Given the description of an element on the screen output the (x, y) to click on. 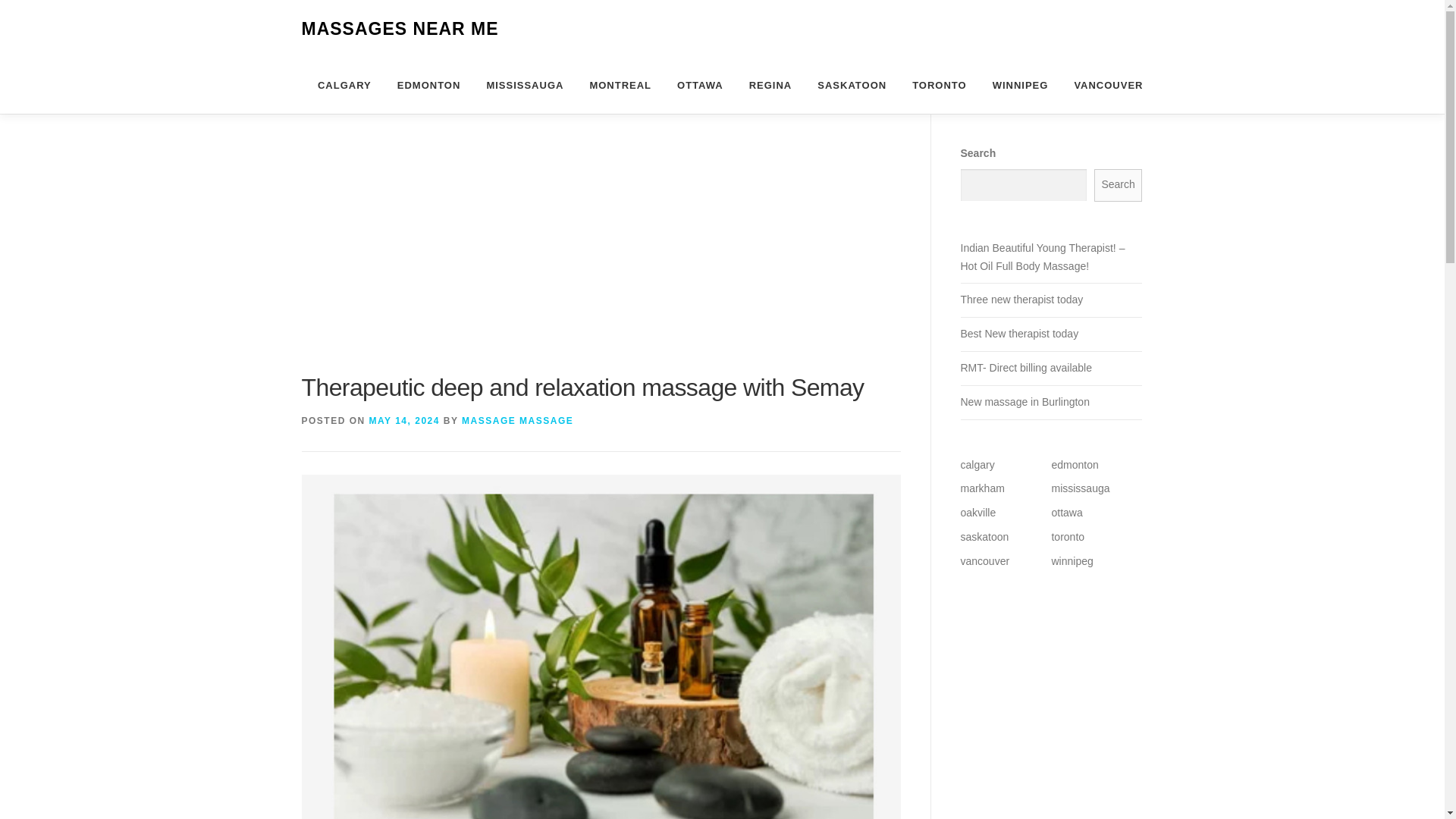
Advertisement (601, 256)
MAY 14, 2024 (404, 420)
CALGARY (344, 84)
EDMONTON (429, 84)
WINNIPEG (1020, 84)
MISSISSAUGA (524, 84)
MASSAGES NEAR ME (400, 29)
TORONTO (939, 84)
VANCOUVER (1101, 84)
OTTAWA (699, 84)
